Given the description of an element on the screen output the (x, y) to click on. 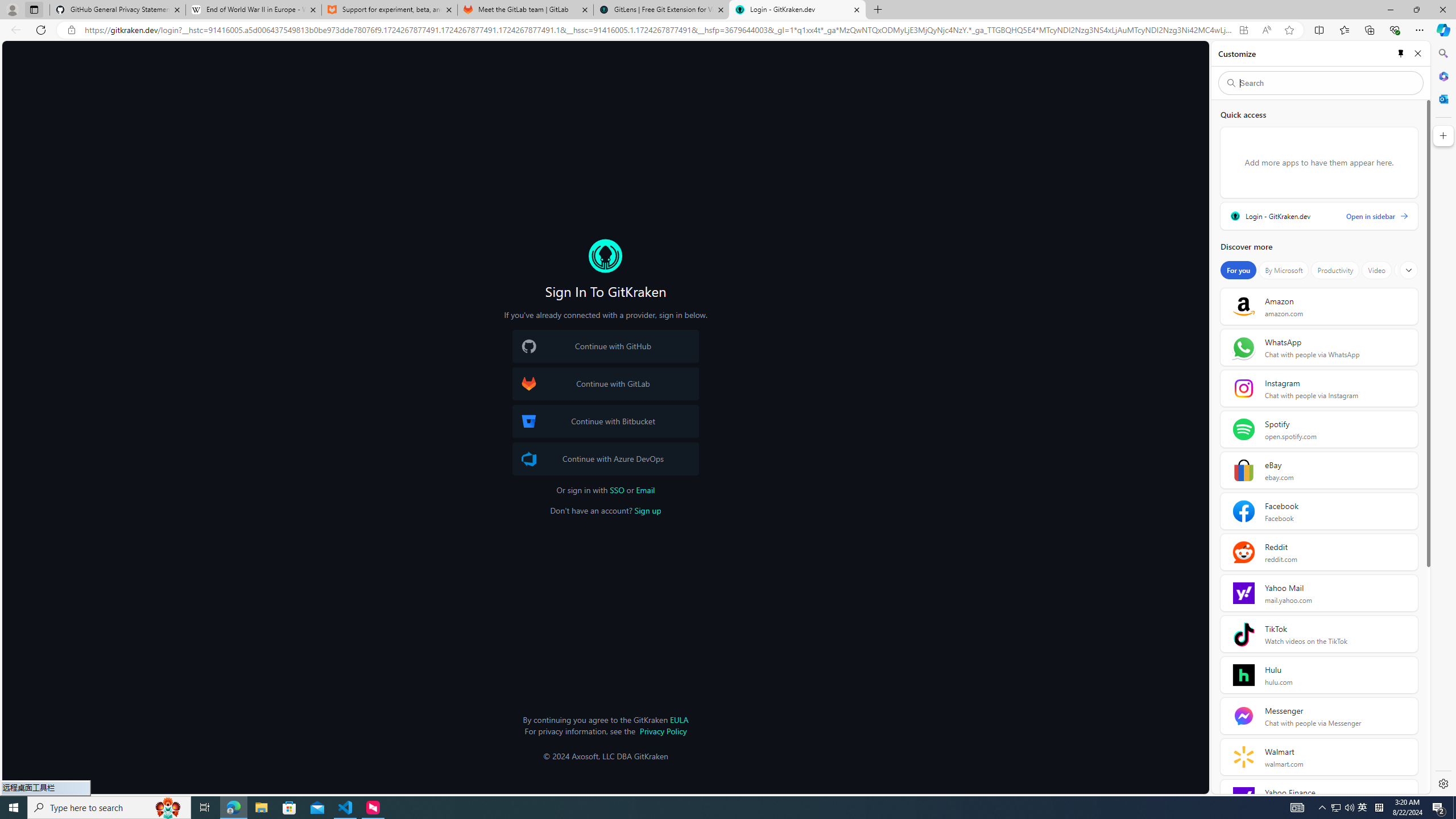
GitKraken (605, 255)
GitHub General Privacy Statement - GitHub Docs (117, 9)
GitHub Logo (528, 346)
By Microsoft (1282, 270)
Login - GitKraken.dev (797, 9)
GitLens | Free Git Extension for Visual Studio Code (660, 9)
